Given the description of an element on the screen output the (x, y) to click on. 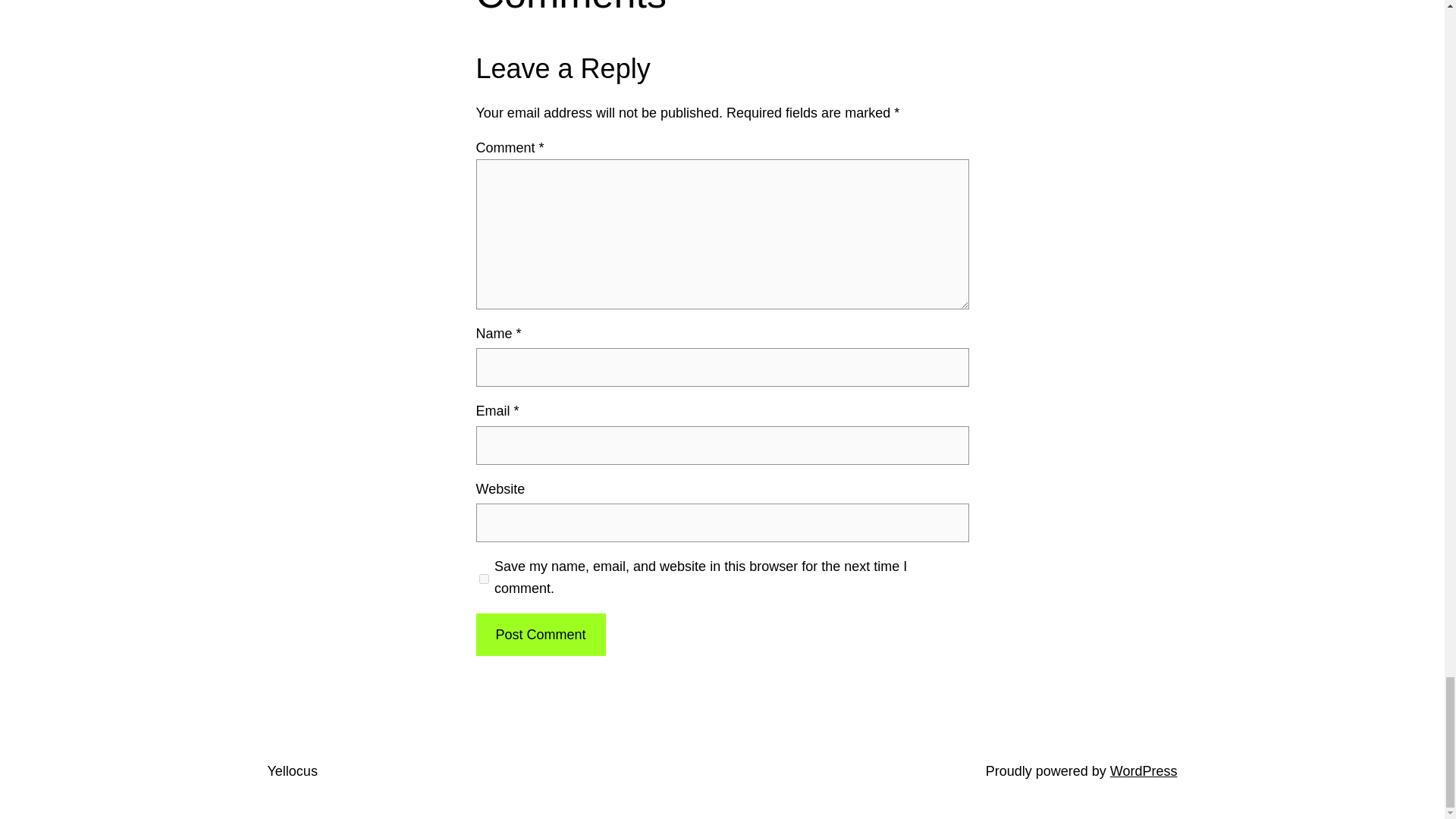
Yellocus (291, 770)
WordPress (1143, 770)
Post Comment (540, 634)
Post Comment (540, 634)
